Given the description of an element on the screen output the (x, y) to click on. 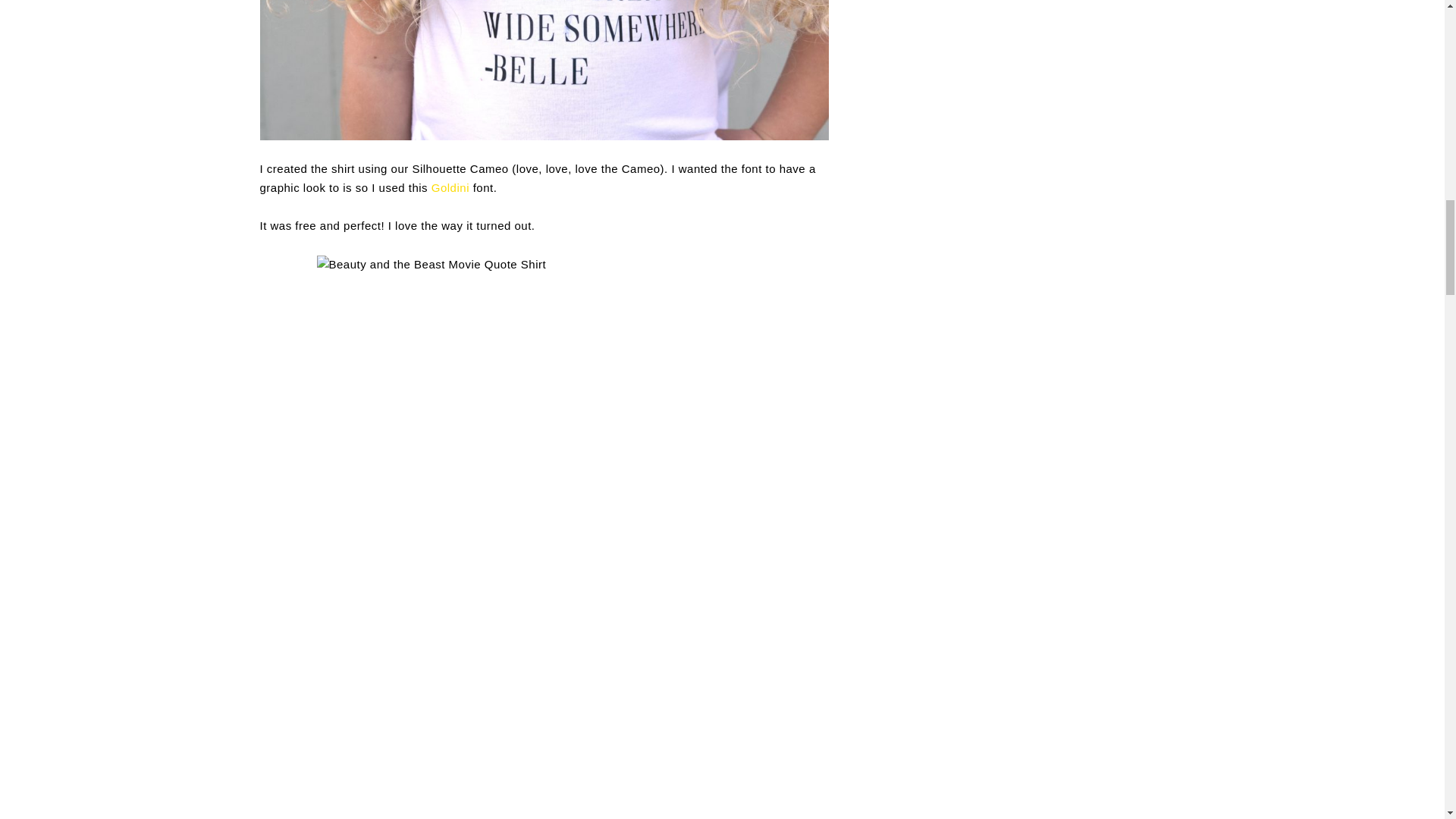
Goldini (449, 187)
